Given the description of an element on the screen output the (x, y) to click on. 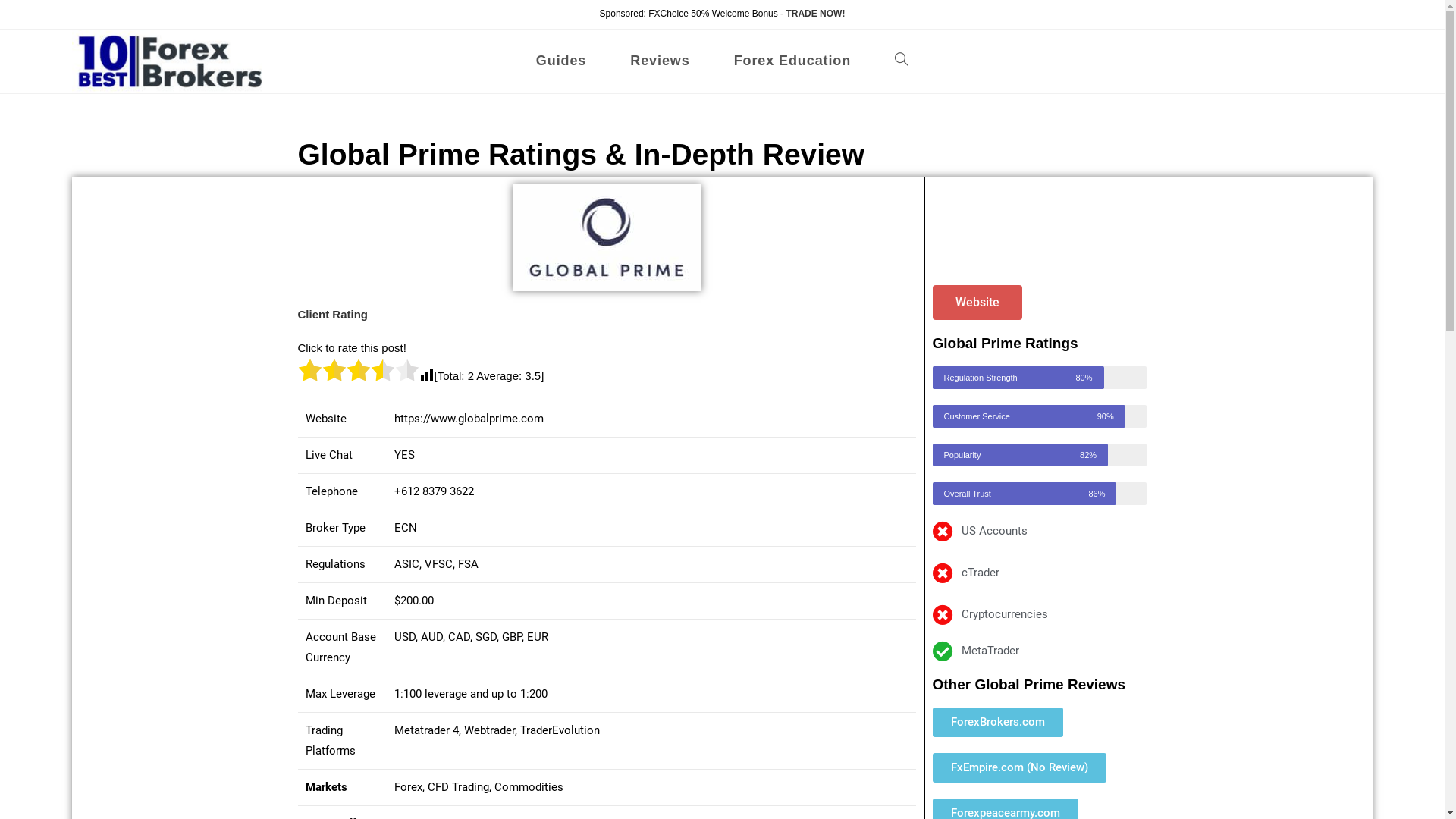
Guides Element type: text (561, 60)
FxEmpire.com (No Review) Element type: text (1019, 767)
Forex Education Element type: text (792, 60)
ForexBrokers.com Element type: text (997, 722)
Website Element type: text (977, 302)
TRADE NOW! Element type: text (814, 13)
Reviews Element type: text (659, 60)
